Given the description of an element on the screen output the (x, y) to click on. 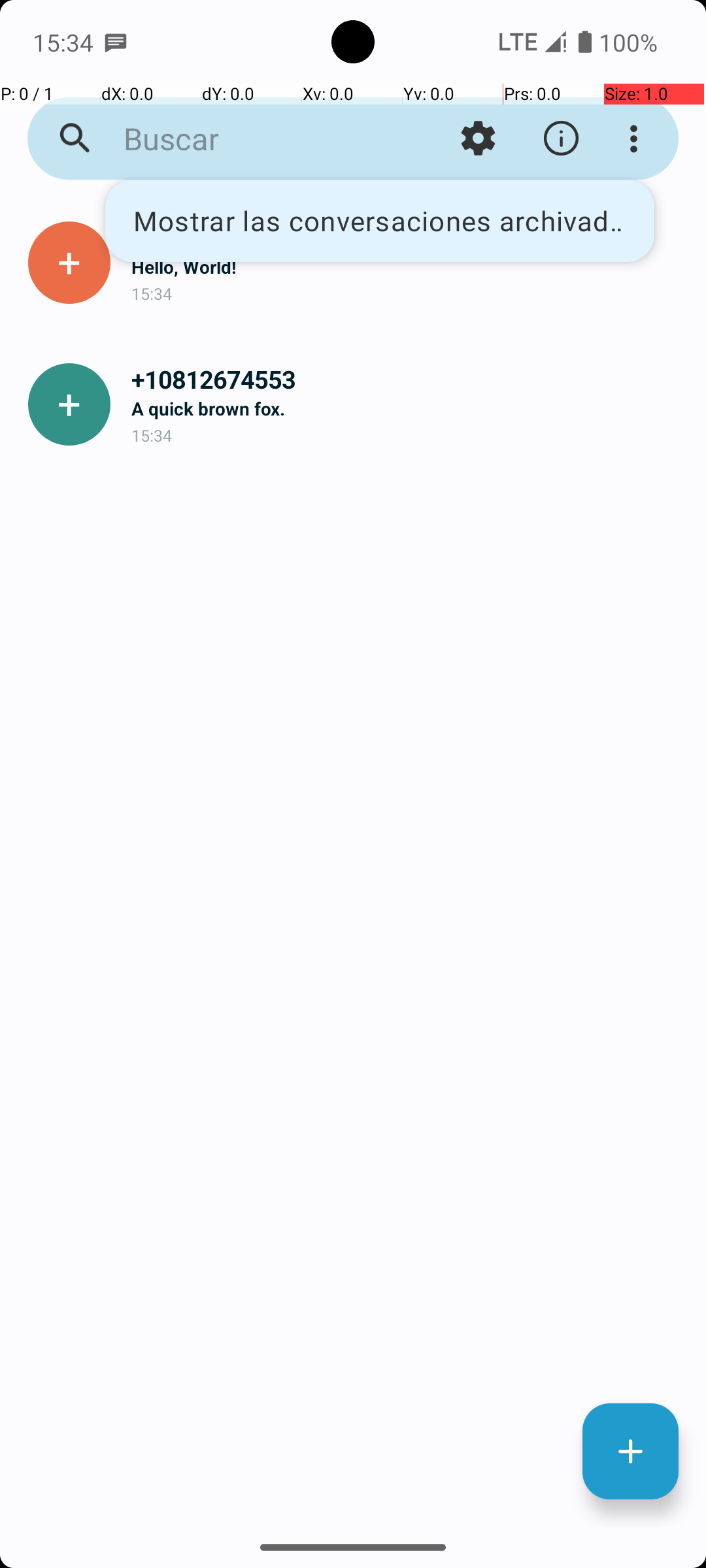
Mostrar las conversaciones archivadas Element type: android.widget.TextView (379, 220)
